Given the description of an element on the screen output the (x, y) to click on. 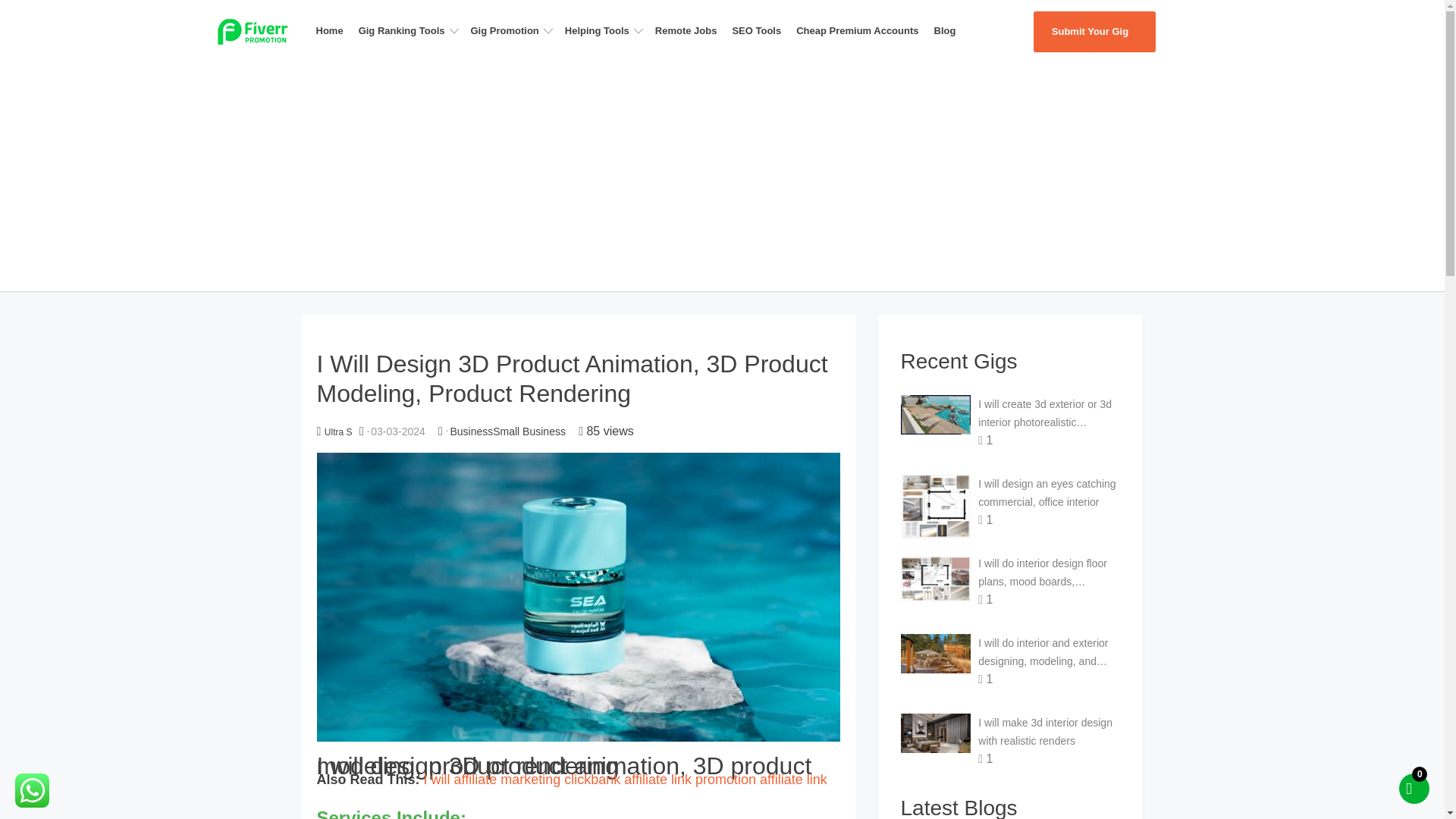
Gig Promotion (513, 30)
Home (334, 30)
Blog (949, 30)
Submit Your Gig (1094, 31)
Ultra S (338, 430)
Helping Tools (607, 30)
Gig Ranking Tools (411, 30)
03-03-2024 (398, 430)
BusinessSmall Business (507, 430)
